Given the description of an element on the screen output the (x, y) to click on. 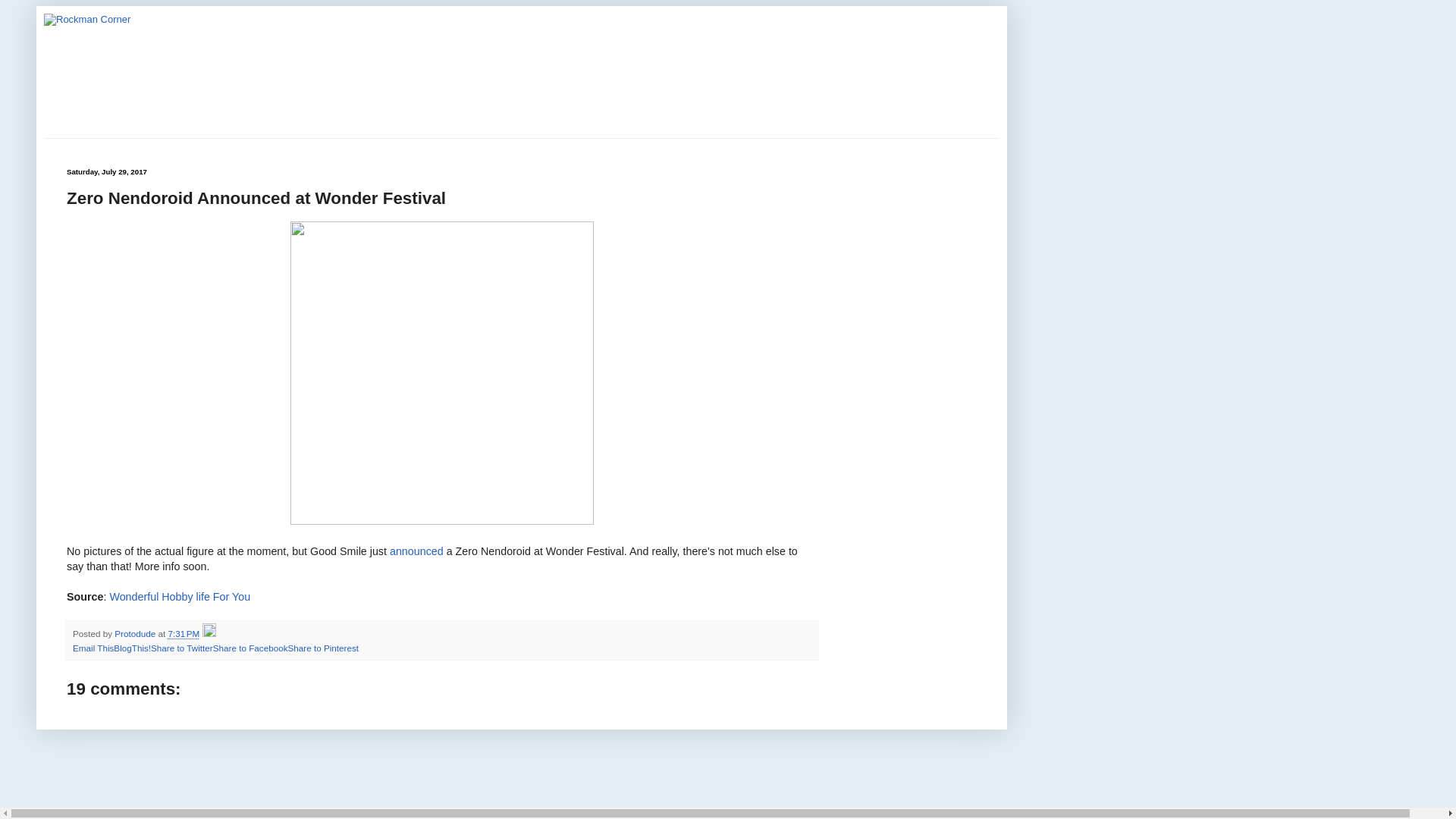
Email This (92, 647)
BlogThis! (132, 647)
author profile (136, 633)
permanent link (183, 633)
announced (417, 551)
Wonderful Hobby life For You (179, 596)
Share to Twitter (181, 647)
Protodude (136, 633)
Email This (92, 647)
